Given the description of an element on the screen output the (x, y) to click on. 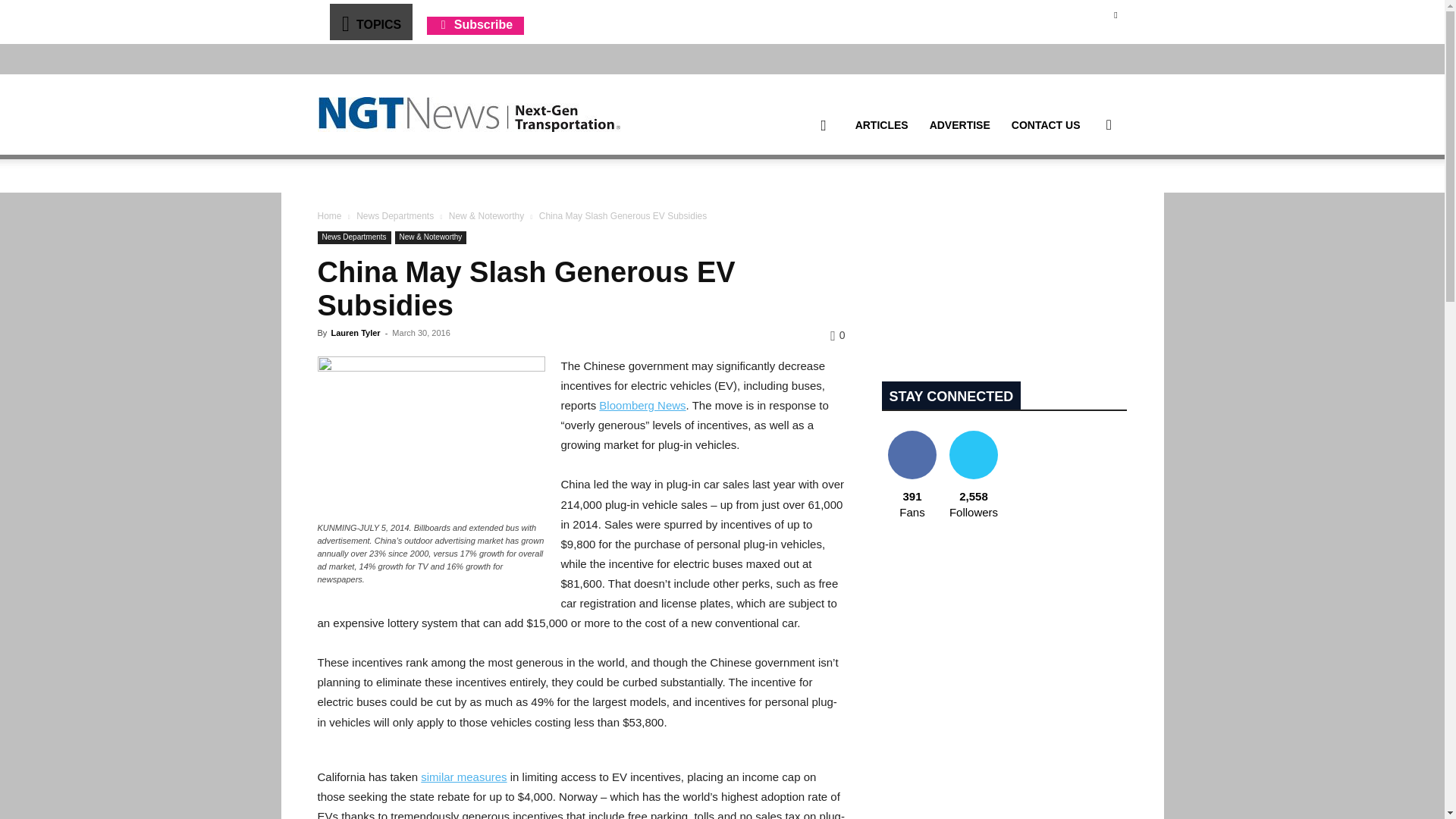
Alternative Fuel News, CNG News (468, 114)
Subscribe (475, 24)
TOPICS (370, 22)
Search (1085, 197)
NGT News (468, 114)
Twitter (1114, 14)
ARTICLES (881, 124)
